Given the description of an element on the screen output the (x, y) to click on. 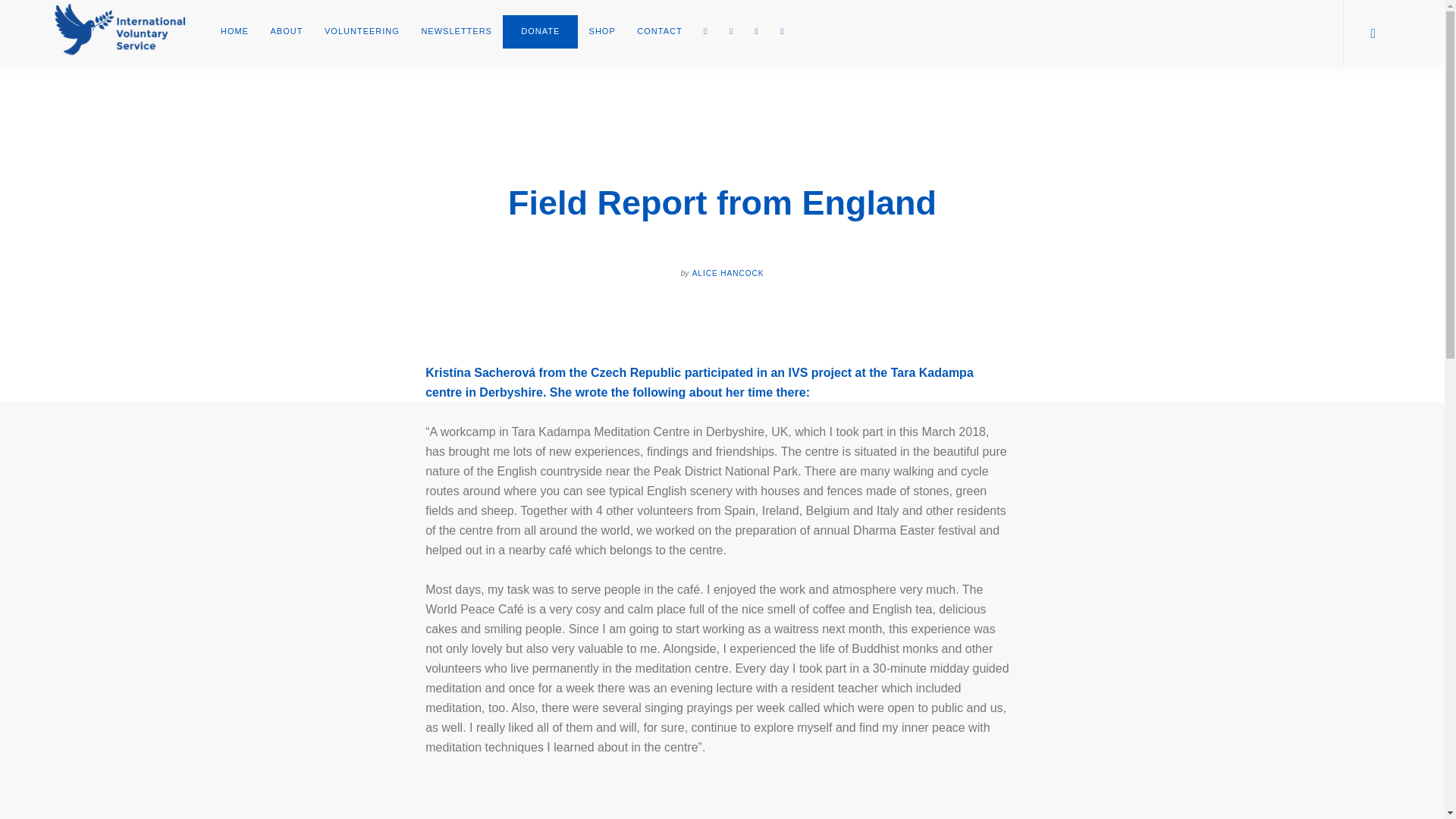
CONTACT (659, 31)
DONATE (540, 31)
NEWSLETTERS (456, 31)
VOLUNTEERING (362, 31)
